Given the description of an element on the screen output the (x, y) to click on. 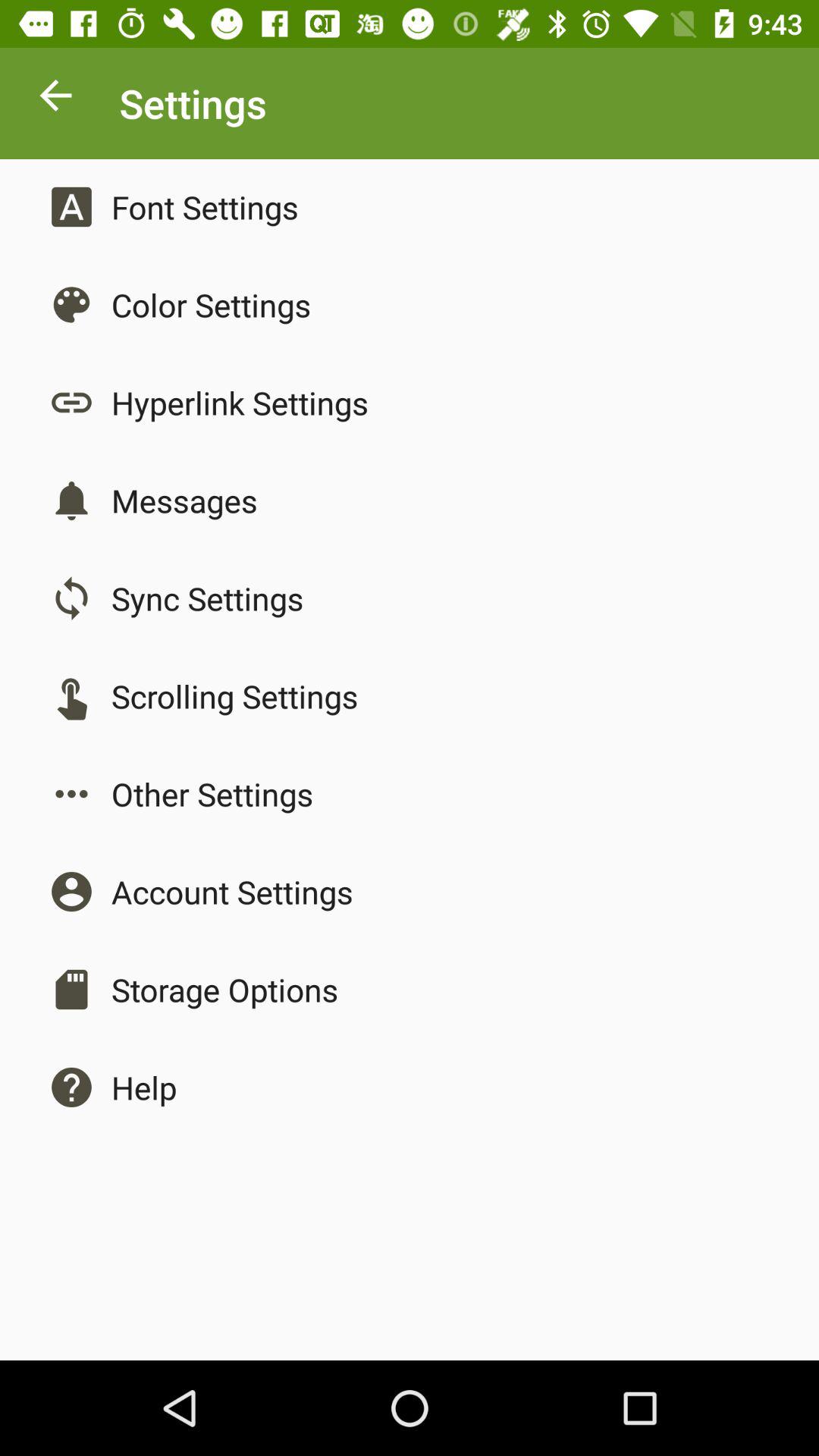
turn off the app above color settings (204, 206)
